Given the description of an element on the screen output the (x, y) to click on. 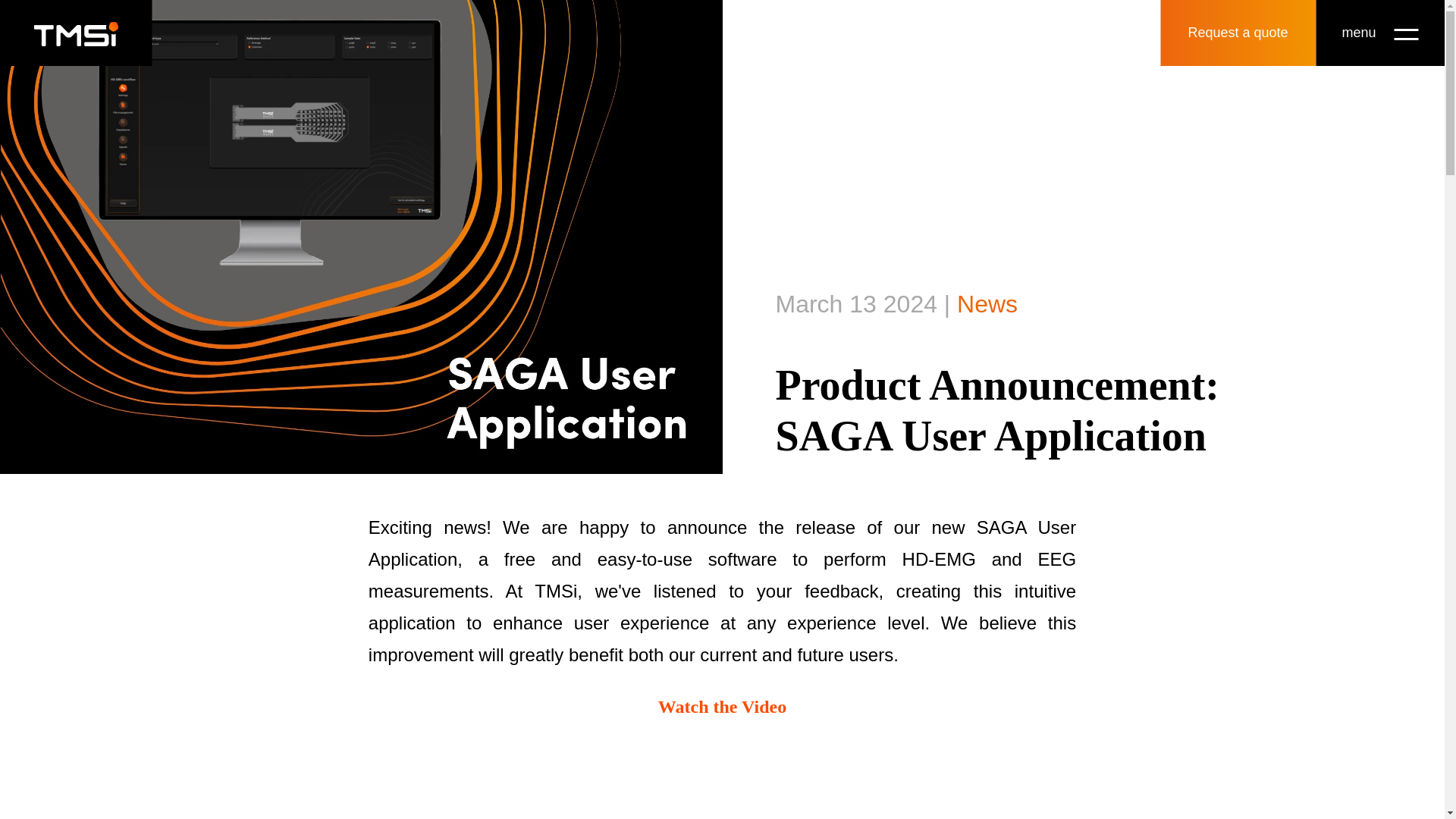
TMSi (75, 33)
menu (1379, 32)
Request a quote (1238, 33)
YouTube video player (721, 780)
